Given the description of an element on the screen output the (x, y) to click on. 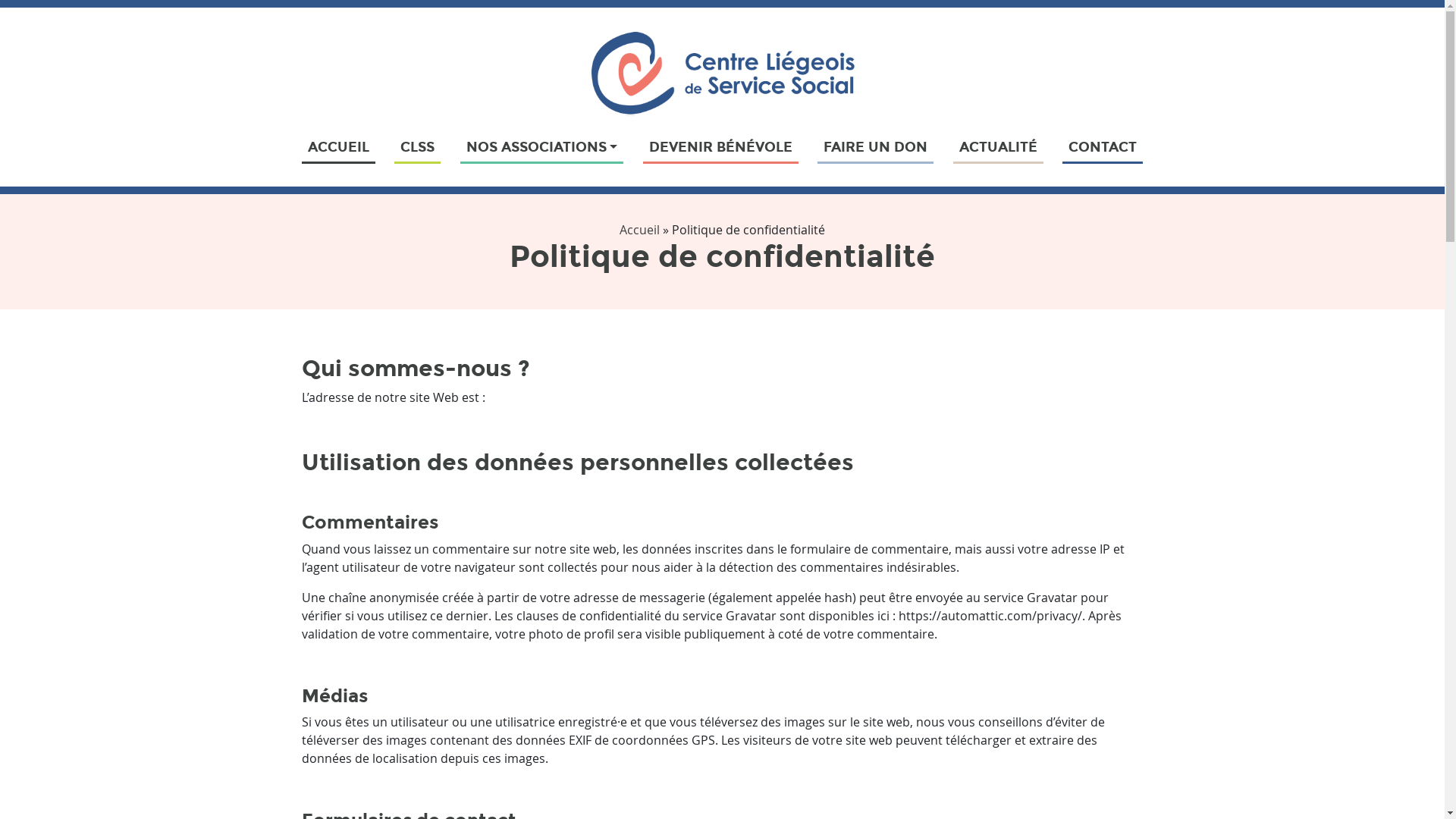
CLSS Element type: text (417, 147)
Accueil Element type: text (639, 229)
ACCUEIL Element type: text (338, 147)
NOS ASSOCIATIONS Element type: text (542, 147)
CONTACT Element type: text (1102, 147)
FAIRE UN DON Element type: text (875, 147)
